Given the description of an element on the screen output the (x, y) to click on. 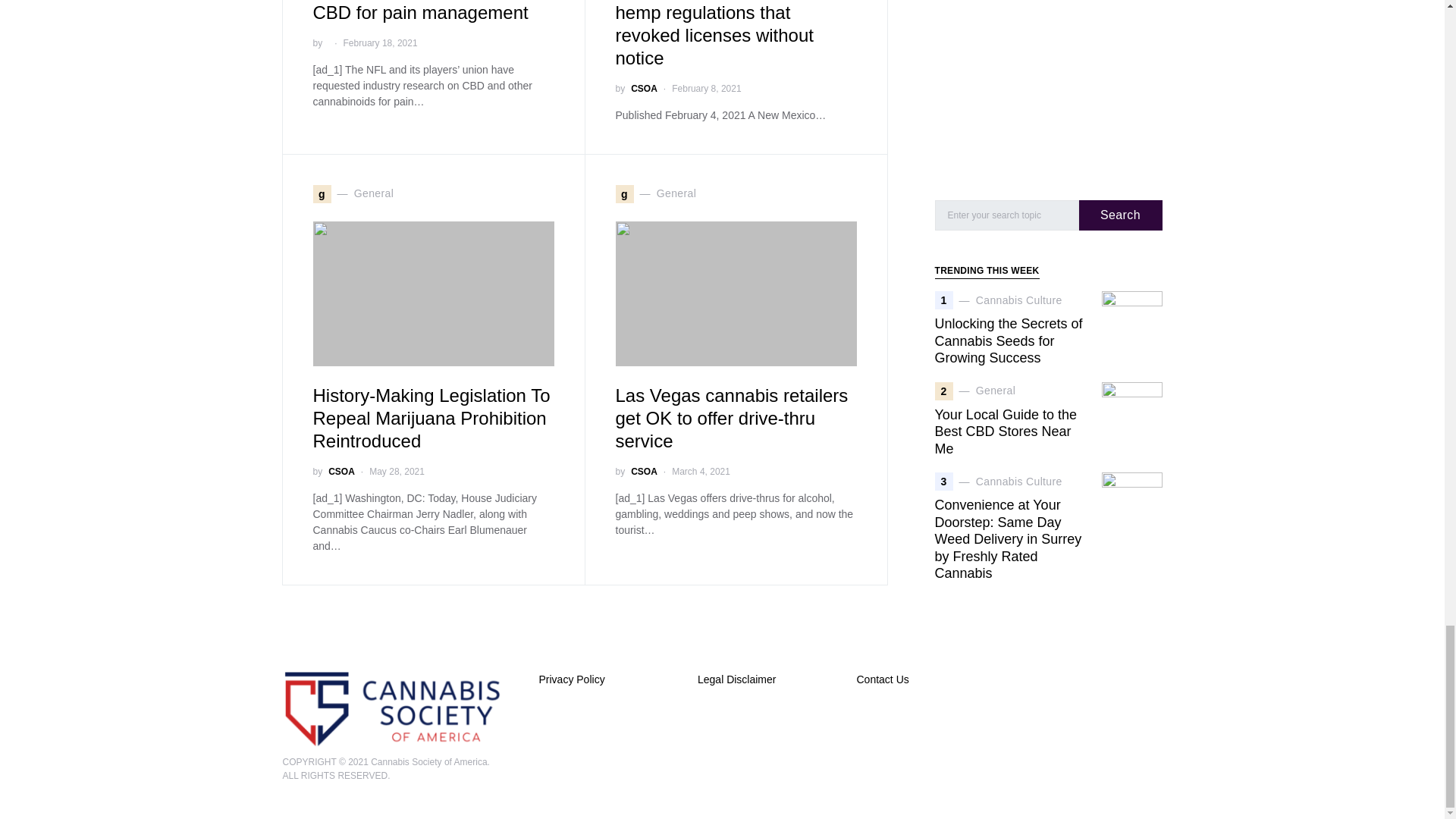
View all posts by CSOA (342, 471)
View all posts by CSOA (644, 88)
View all posts by CSOA (644, 471)
